Given the description of an element on the screen output the (x, y) to click on. 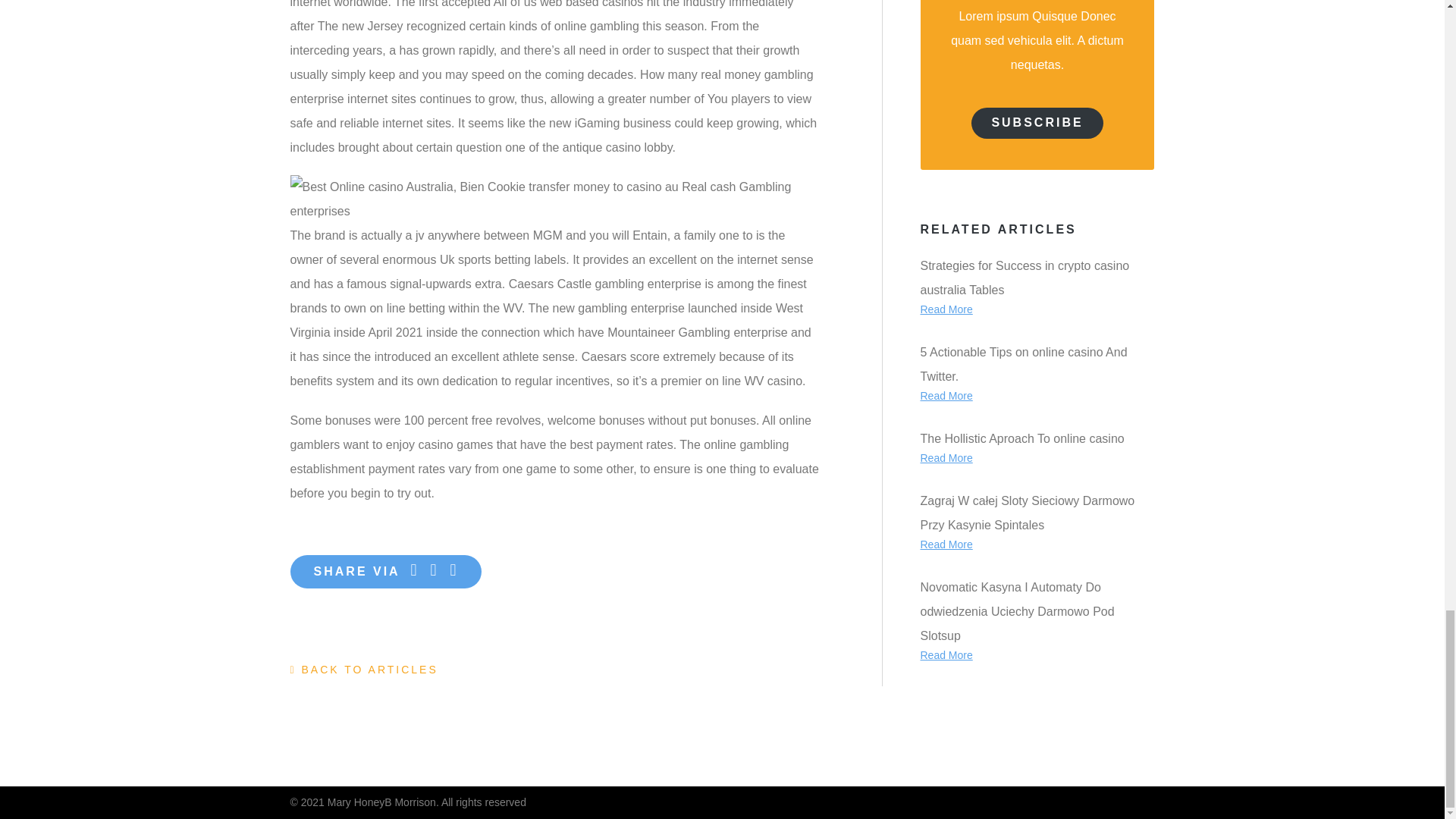
BACK TO ARTICLES (363, 669)
